Given the description of an element on the screen output the (x, y) to click on. 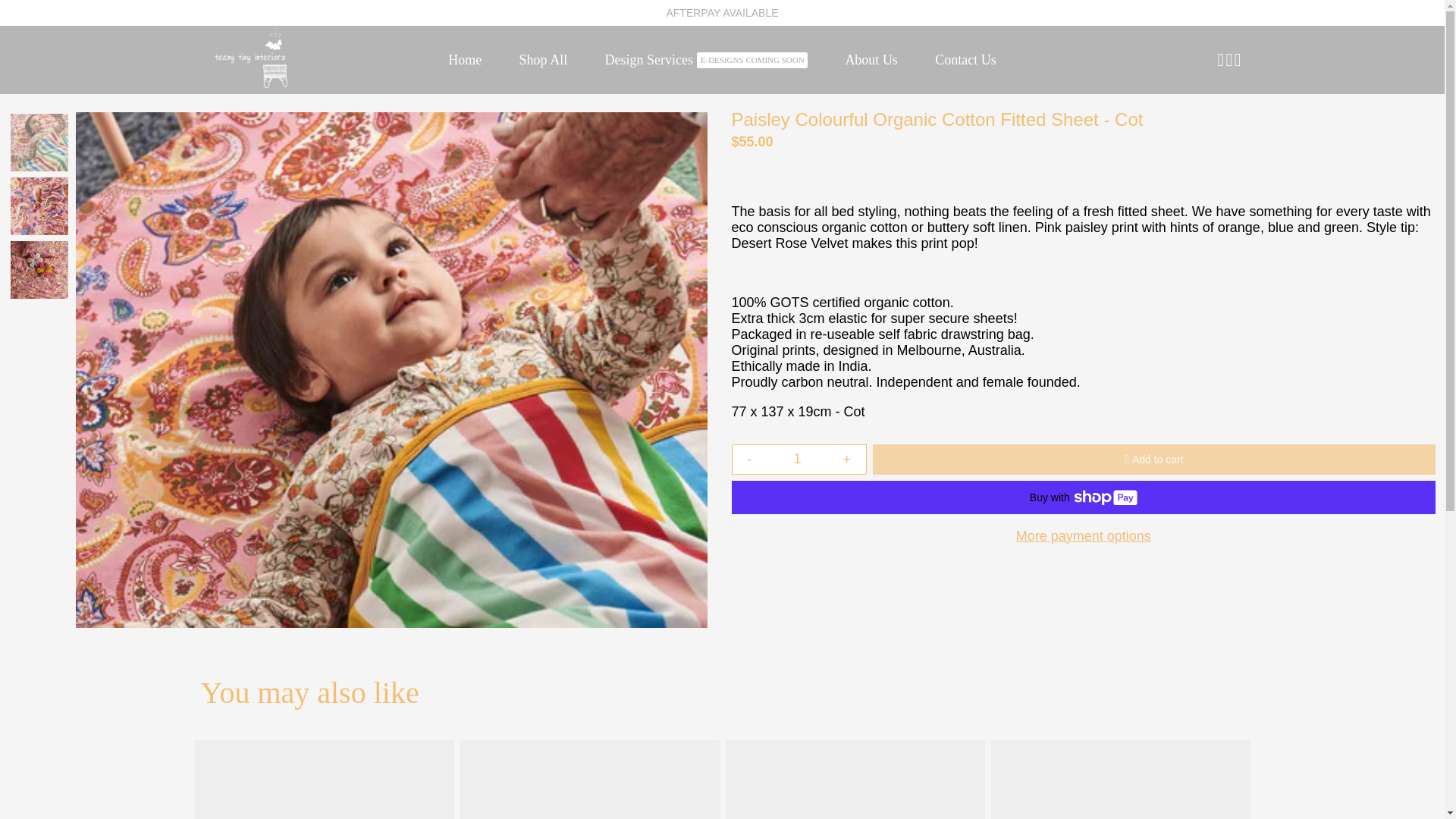
Contact Us (965, 59)
About Us (870, 59)
Shop All (543, 59)
1 (797, 459)
Home (464, 59)
